Given the description of an element on the screen output the (x, y) to click on. 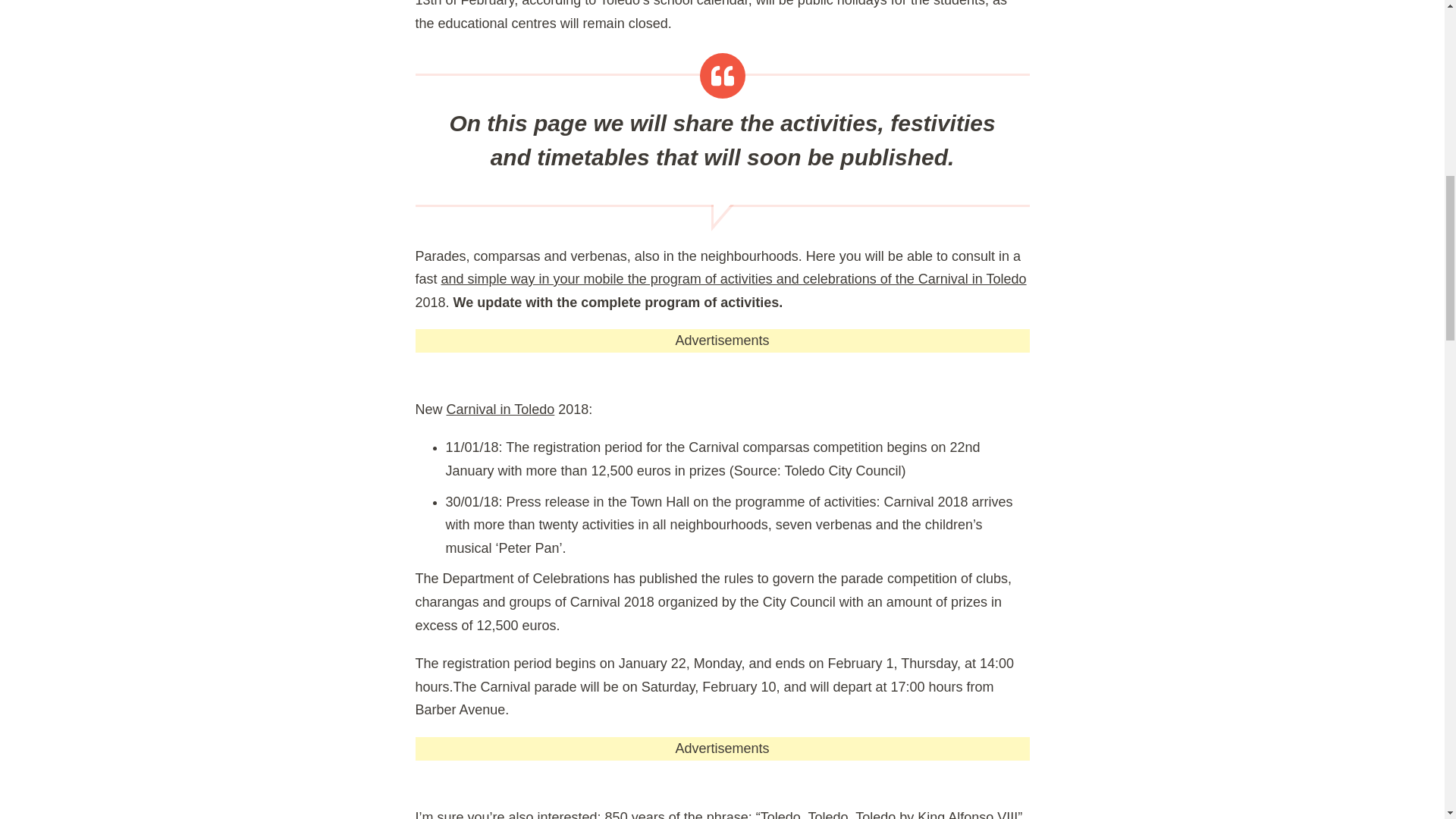
Carnival in Toledo (500, 409)
Carnival in Toledo (500, 409)
